Given the description of an element on the screen output the (x, y) to click on. 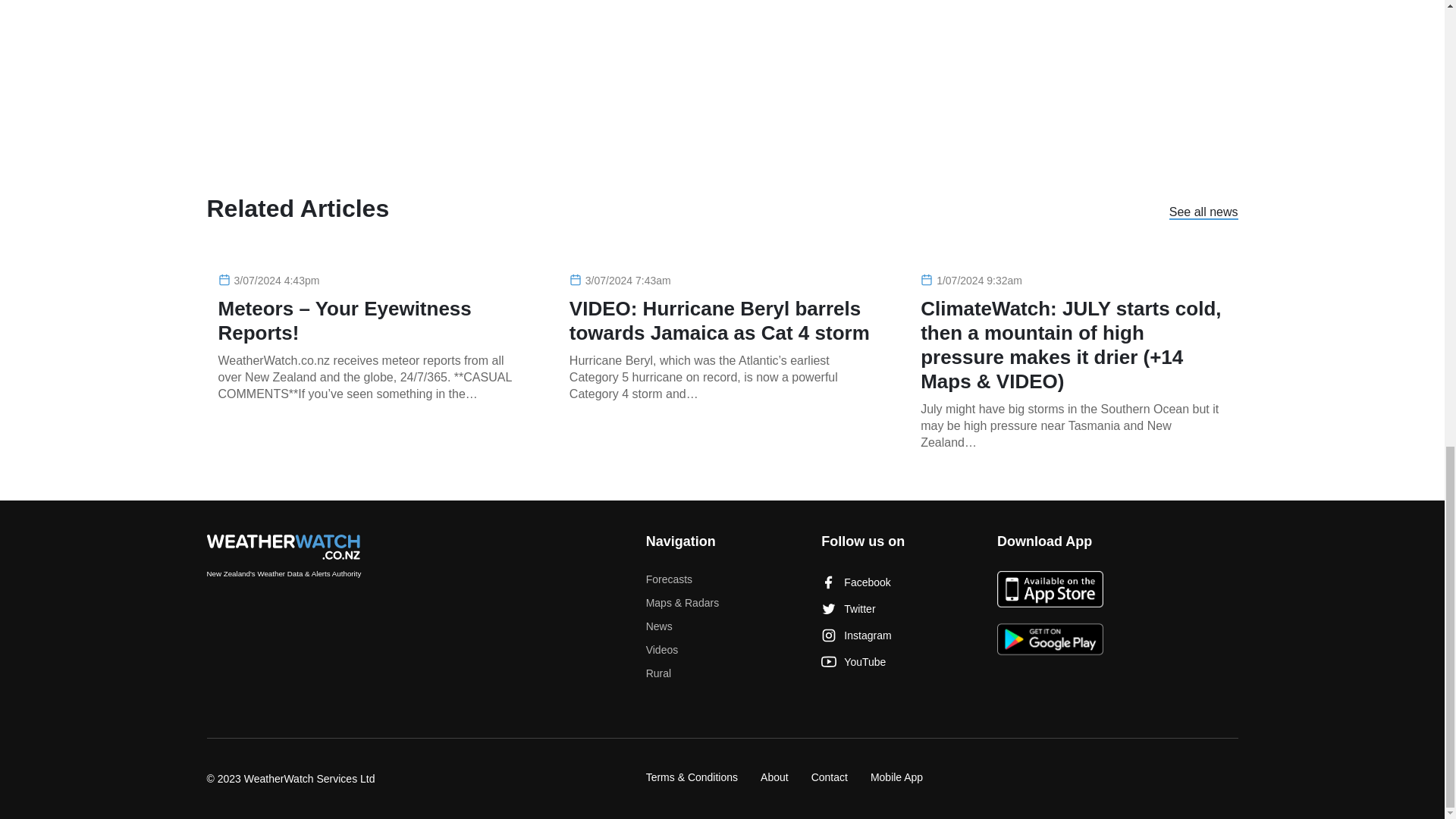
3rd party ad content (985, 74)
